Given the description of an element on the screen output the (x, y) to click on. 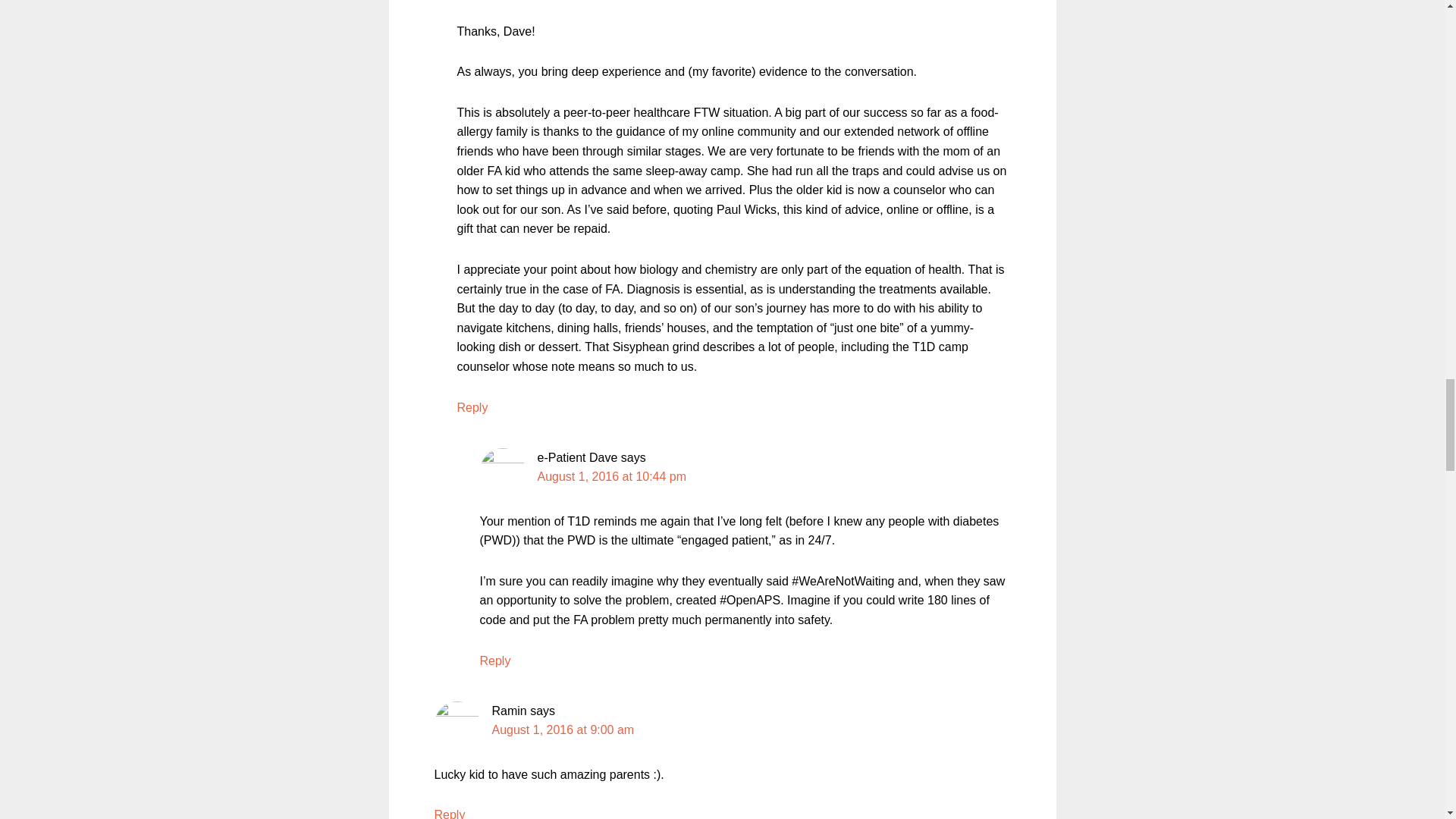
Reply (448, 813)
August 1, 2016 at 9:00 am (562, 729)
Reply (472, 407)
Reply (495, 660)
August 1, 2016 at 10:44 pm (611, 476)
